Given the description of an element on the screen output the (x, y) to click on. 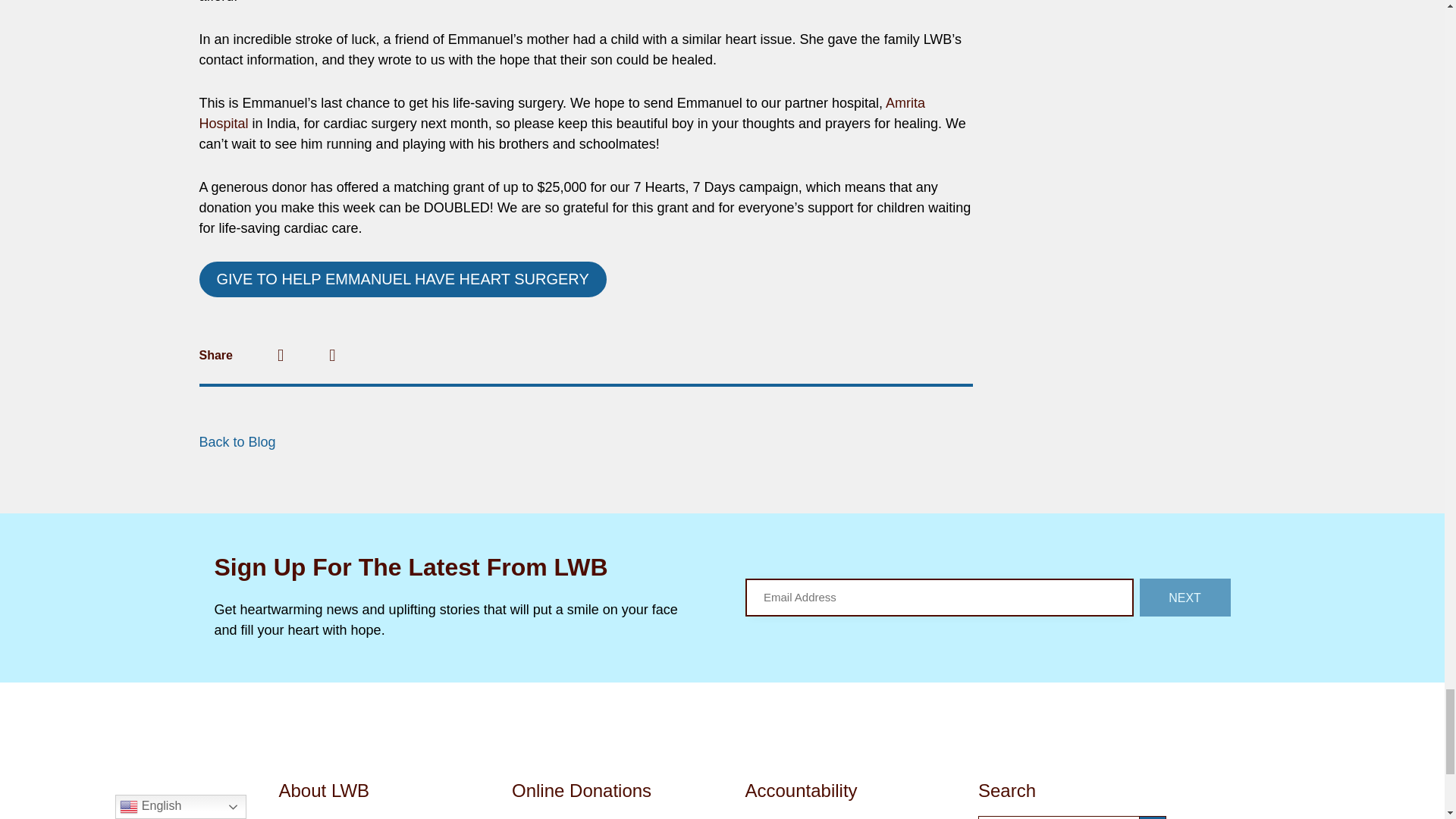
Back to Blog (236, 441)
GIVE TO HELP EMMANUEL HAVE HEART SURGERY (401, 279)
Amrita Hospital (561, 113)
